Given the description of an element on the screen output the (x, y) to click on. 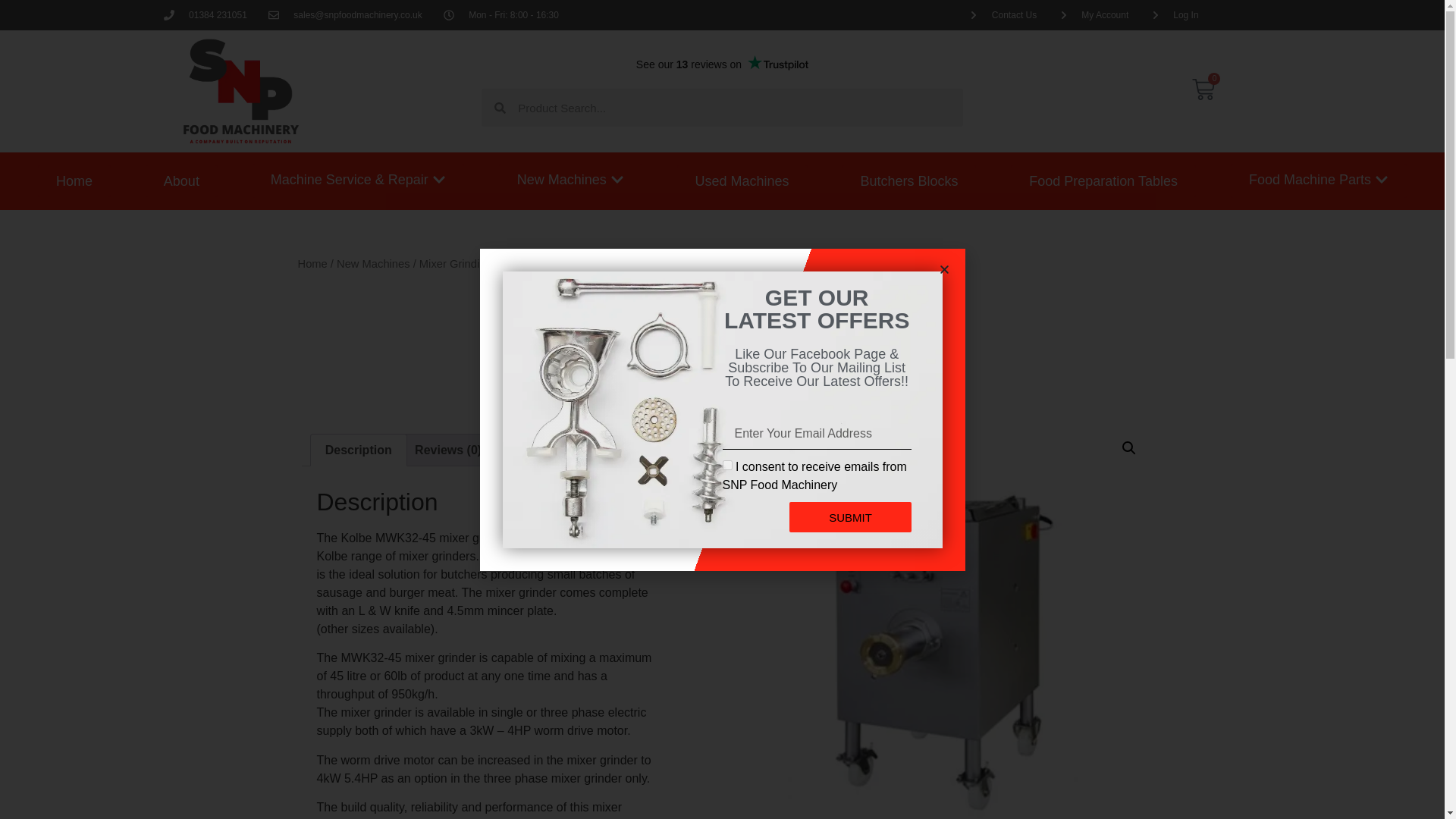
Butchers Blocks (908, 181)
Home (73, 181)
Contact Us (1002, 15)
Log In (1174, 15)
Used Machines (742, 181)
Customer reviews powered by Trustpilot (721, 64)
New Machines (570, 180)
About (180, 181)
My Account (1093, 15)
Food Machine Parts (1318, 180)
Food Preparation Tables (1102, 181)
0 (1203, 90)
01384 231051 (205, 15)
on (727, 465)
